Given the description of an element on the screen output the (x, y) to click on. 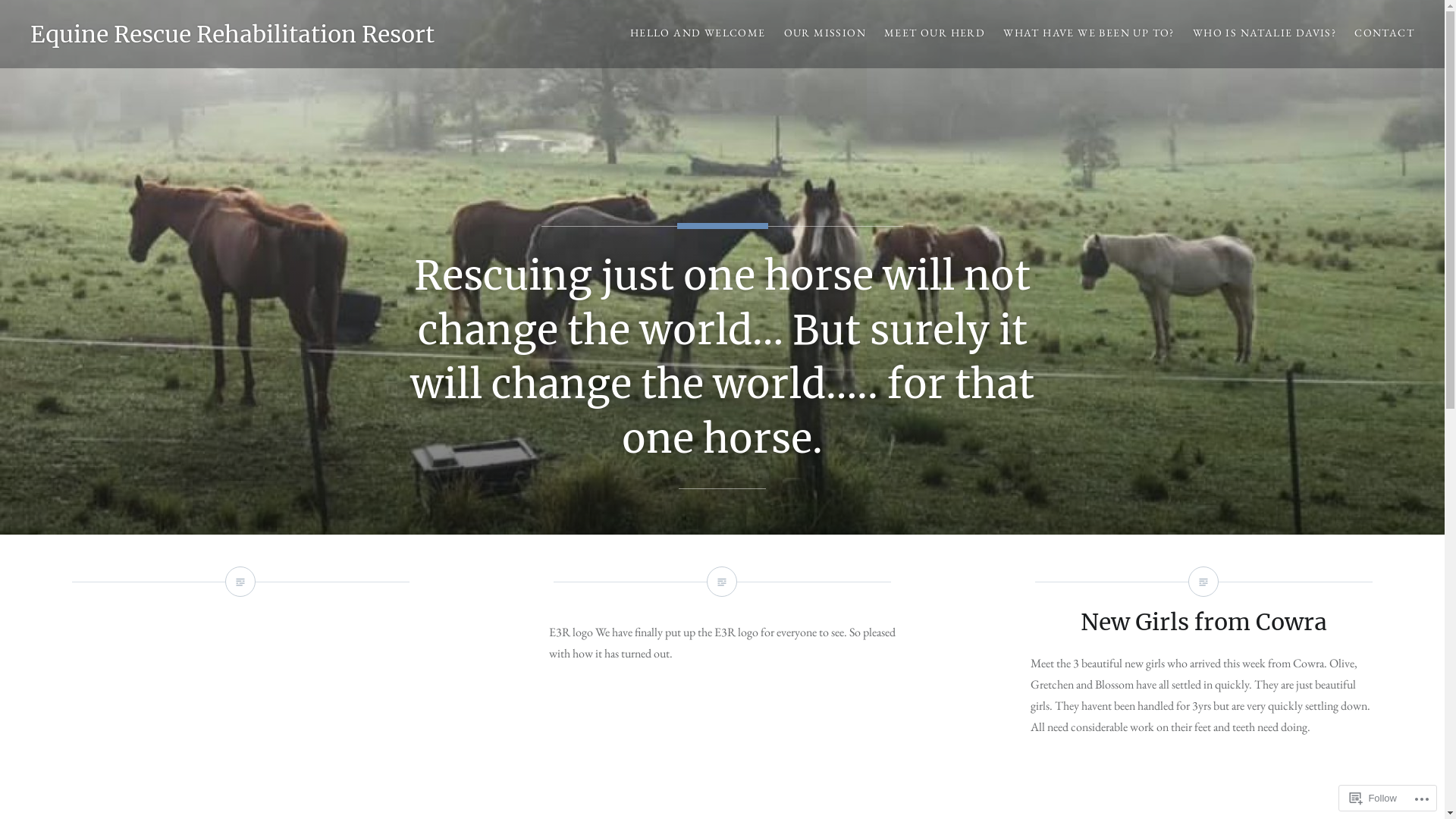
CONTACT Element type: text (1384, 32)
HELLO AND WELCOME Element type: text (697, 32)
WHO IS NATALIE DAVIS? Element type: text (1264, 32)
Follow Element type: text (1372, 797)
WHAT HAVE WE BEEN UP TO? Element type: text (1088, 32)
MEET OUR HERD Element type: text (934, 32)
OUR MISSION Element type: text (825, 32)
Equine Rescue Rehabilitation Resort Element type: text (232, 33)
New Girls from Cowra Element type: text (1203, 621)
